Given the description of an element on the screen output the (x, y) to click on. 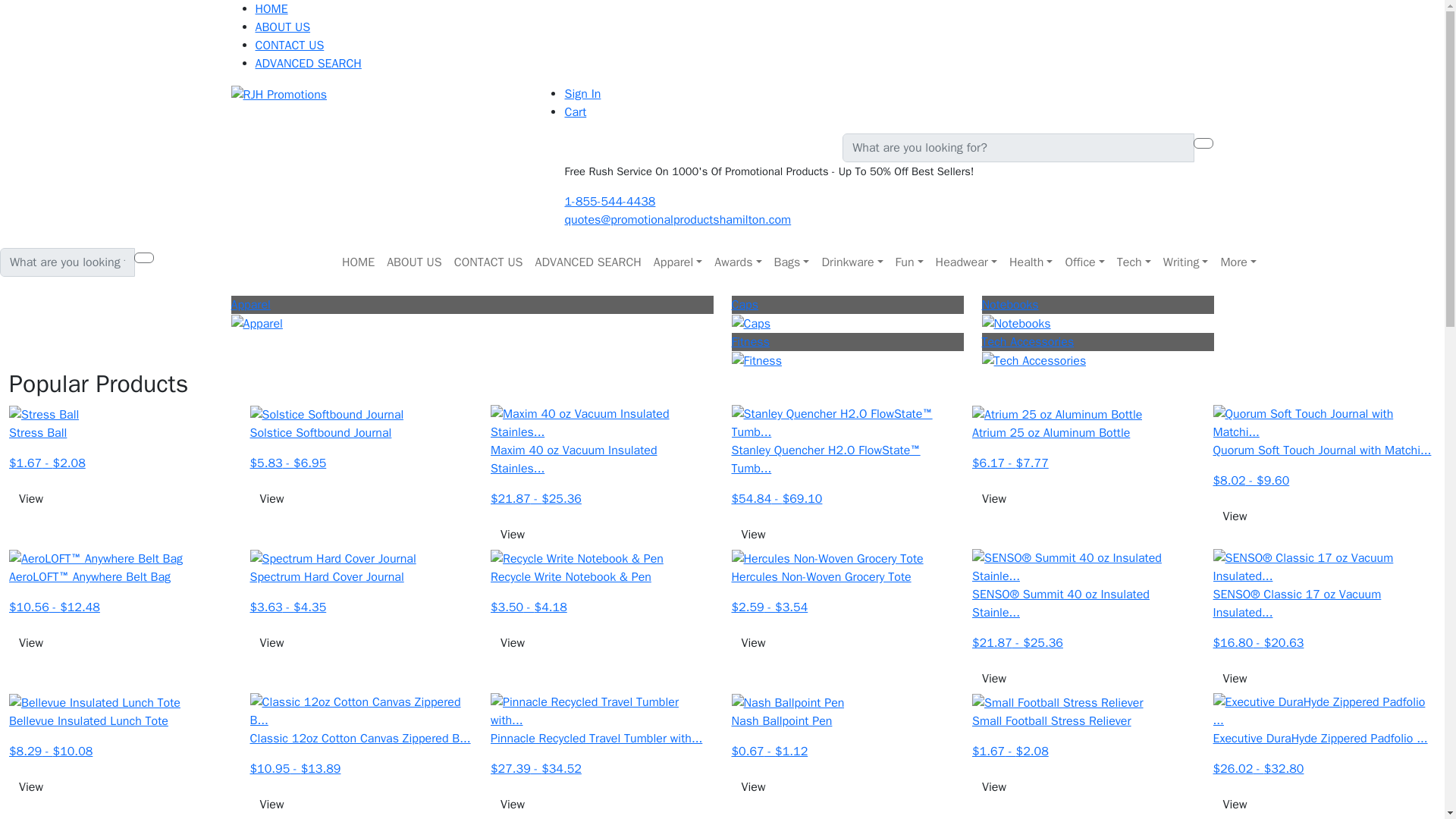
ABOUT US (282, 27)
ABOUT US (414, 262)
1-855-544-4438 (609, 201)
CONTACT US (488, 262)
ADVANCED SEARCH (588, 262)
CONTACT US (288, 45)
Apparel (677, 262)
Sign In (581, 93)
HOME (270, 8)
ADVANCED SEARCH (307, 63)
